Given the description of an element on the screen output the (x, y) to click on. 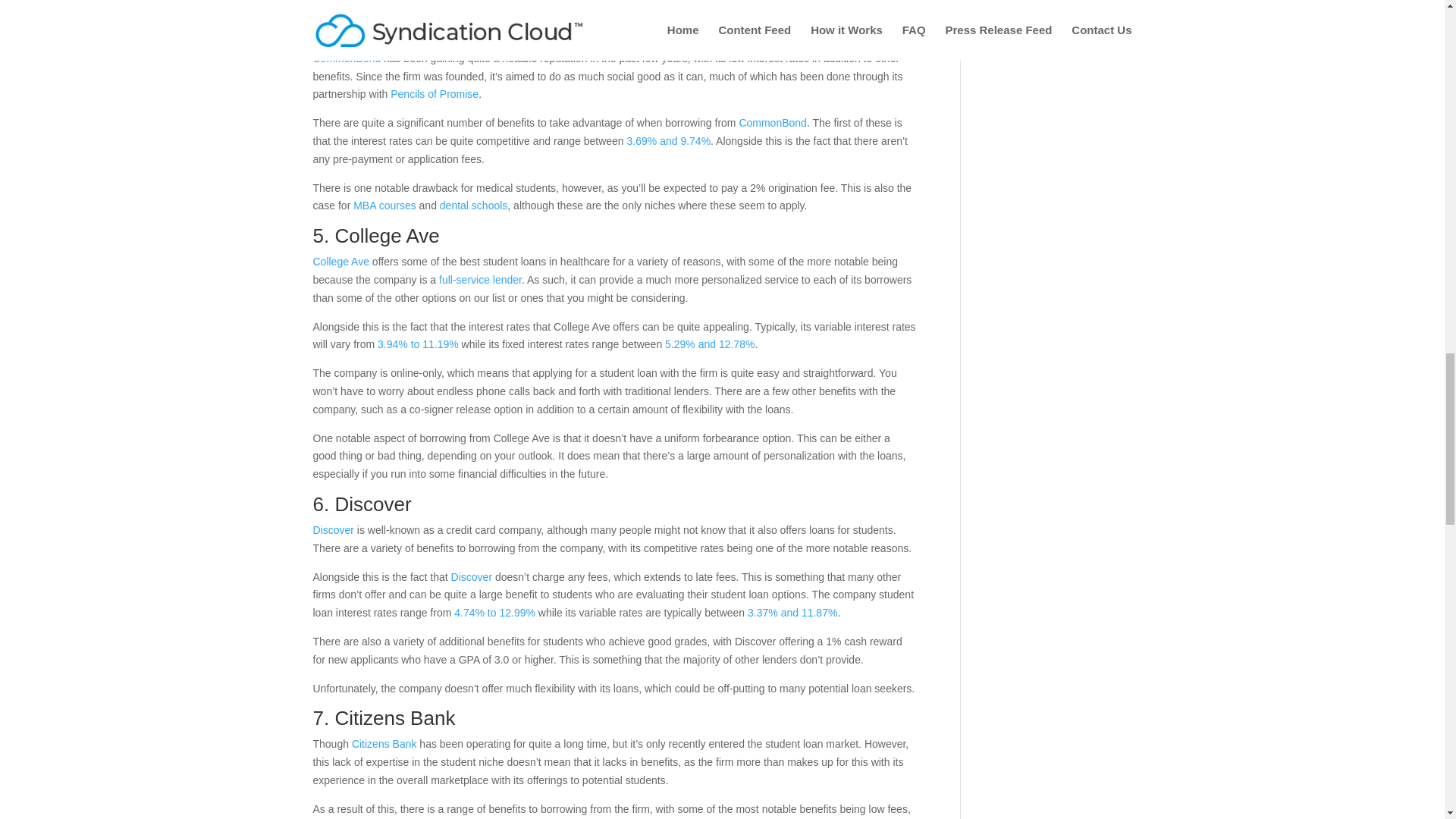
CommonBond (346, 58)
CommonBond (772, 122)
CommonBond (397, 32)
Pencils of Promise (434, 93)
